Given the description of an element on the screen output the (x, y) to click on. 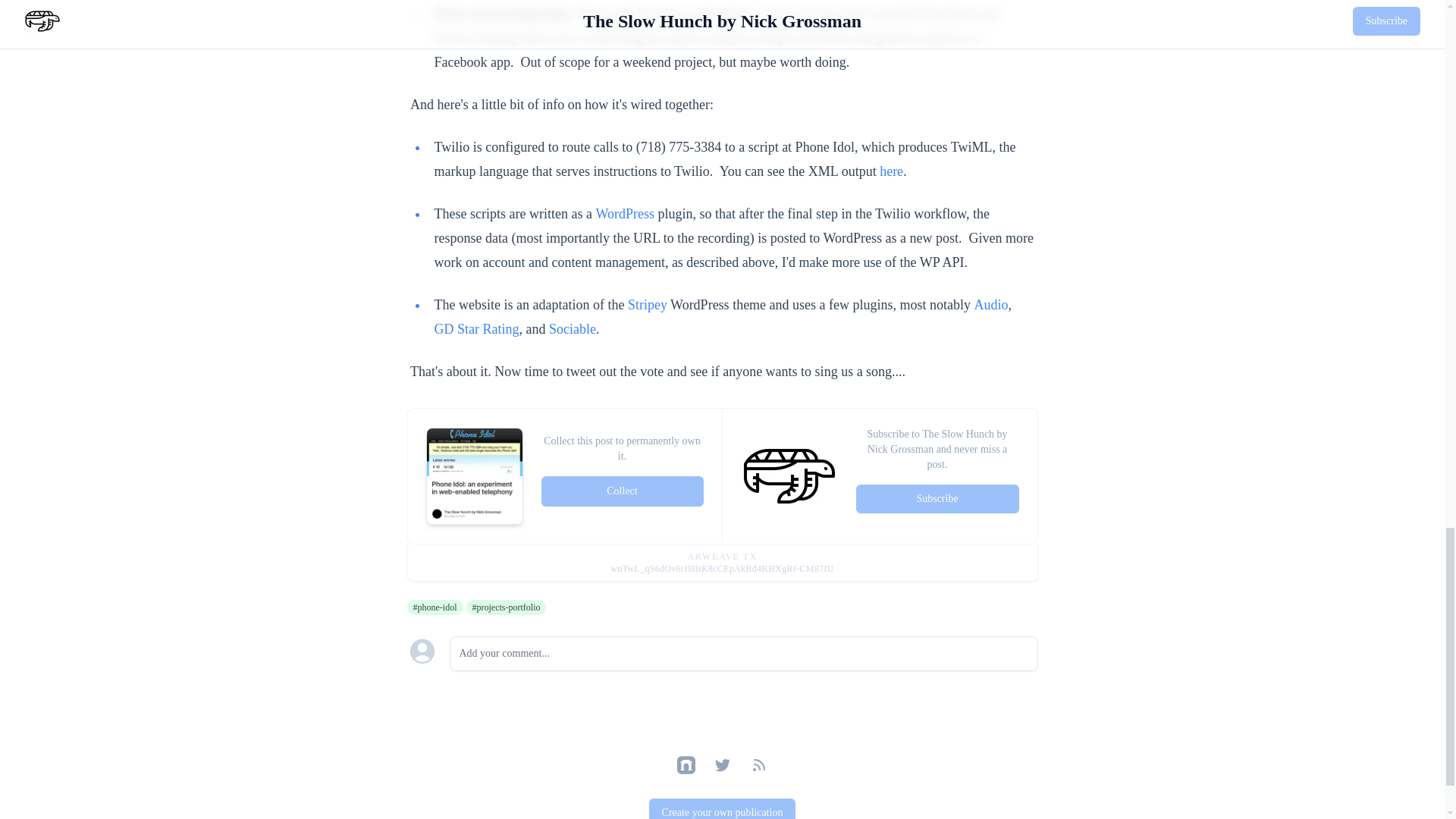
Stripey (646, 304)
Audio (991, 304)
GD Star Rating (475, 328)
Collect (622, 490)
Farcaster (685, 764)
here (890, 171)
Sociable (571, 328)
Subscribe (936, 498)
RSS (758, 764)
Twitter (721, 764)
Create your own publication (722, 808)
WordPress (624, 213)
